Given the description of an element on the screen output the (x, y) to click on. 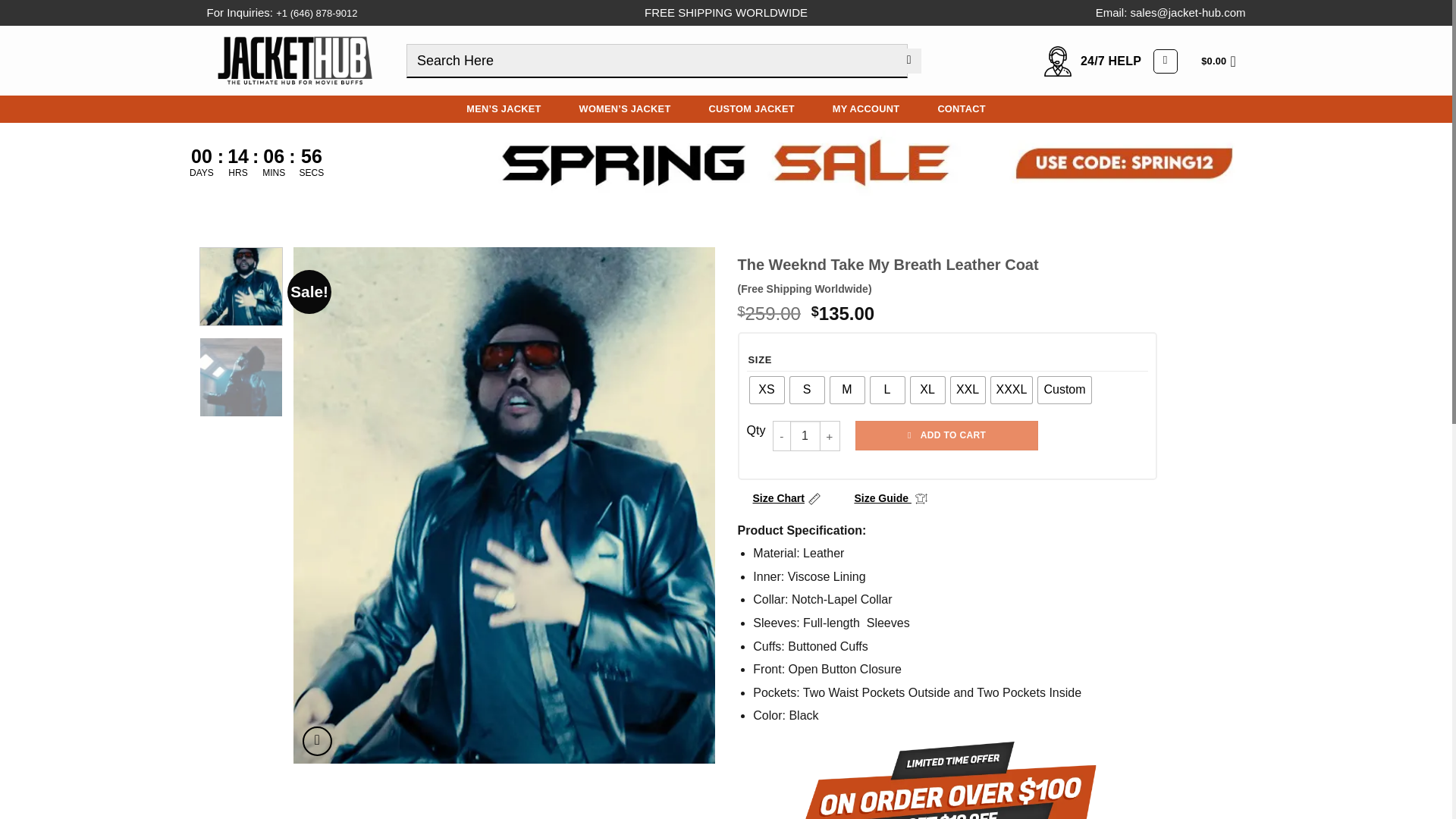
Search (908, 60)
M (846, 389)
L (887, 389)
XXL (967, 389)
XS (766, 389)
MY ACCOUNT (866, 108)
Qty (805, 435)
Custom (1064, 389)
S (807, 389)
1 (805, 435)
XXXL (1011, 389)
ADD TO CART (947, 435)
Jacket Hub (294, 60)
Size Chart (785, 498)
Size Guide (890, 498)
